Given the description of an element on the screen output the (x, y) to click on. 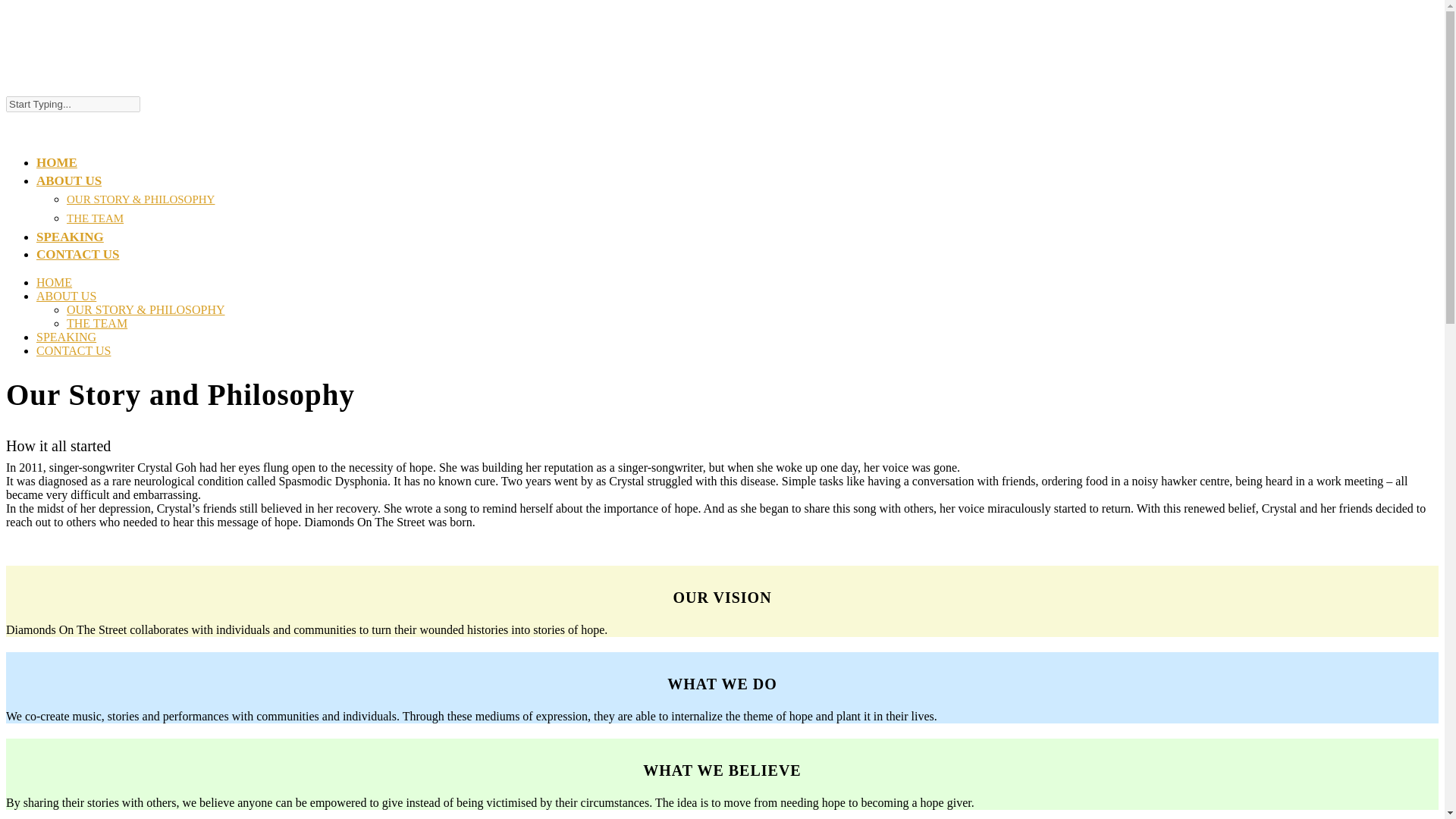
Start Typing... (72, 104)
HOME (53, 282)
CONTACT US (73, 350)
ABOUT US (66, 295)
ABOUT US (68, 190)
HOME (56, 172)
THE TEAM (94, 218)
CONTACT US (77, 264)
SPEAKING (69, 247)
THE TEAM (97, 323)
SPEAKING (66, 336)
